Given the description of an element on the screen output the (x, y) to click on. 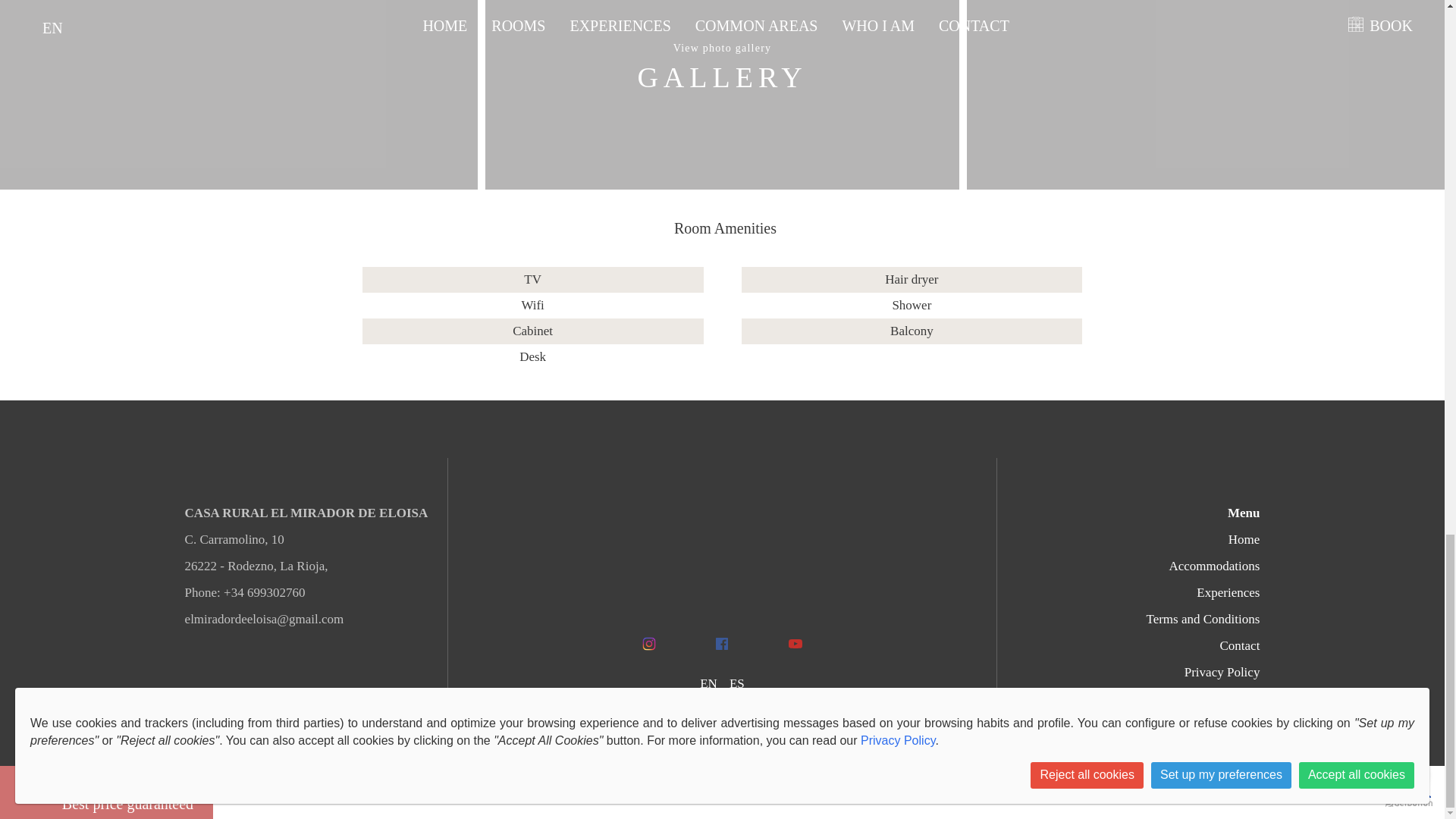
EN (708, 683)
Powered using Amenitiz (722, 708)
ES (736, 683)
